Given the description of an element on the screen output the (x, y) to click on. 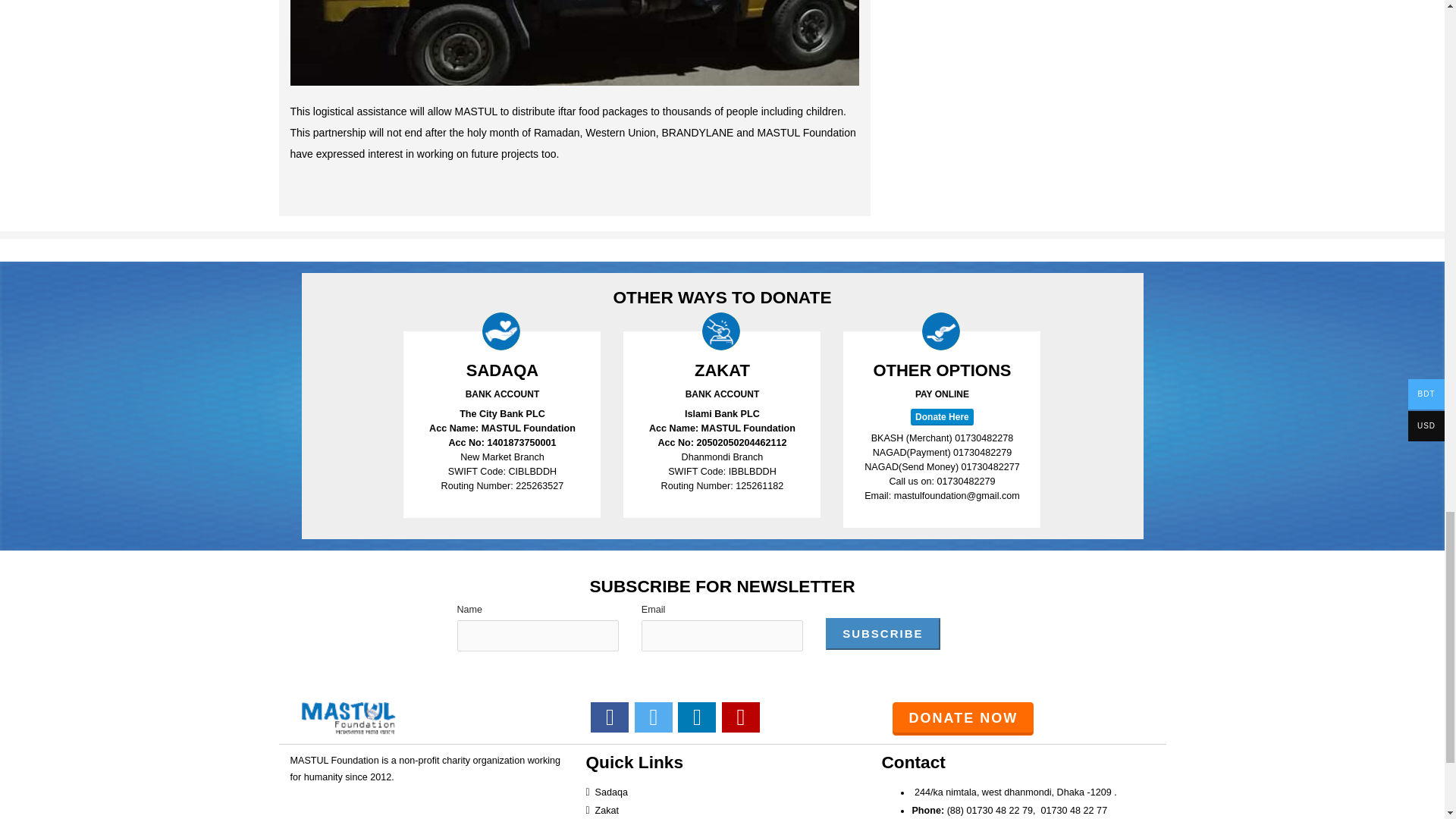
Subscribe (882, 634)
